Given the description of an element on the screen output the (x, y) to click on. 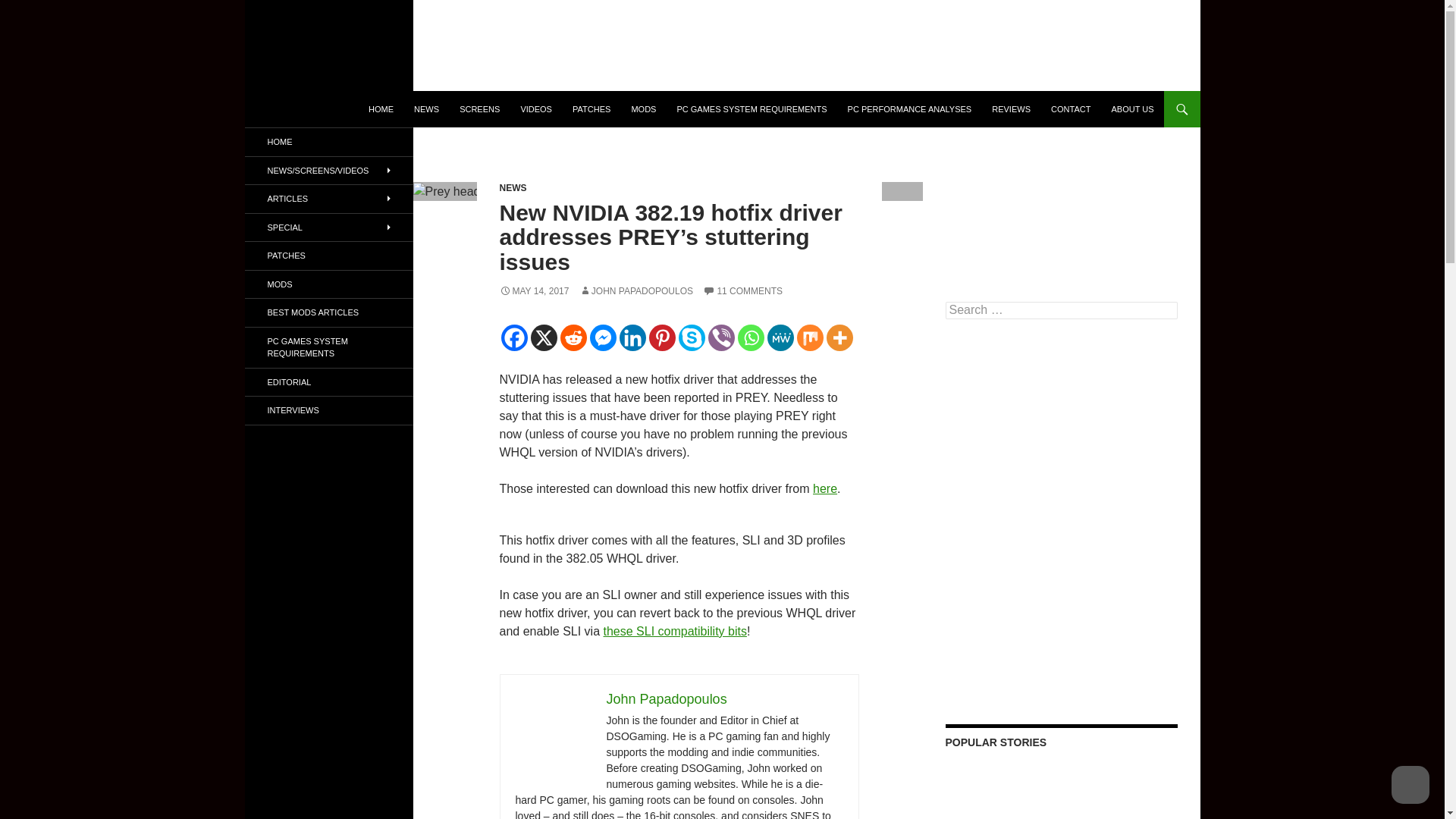
PC PERFORMANCE ANALYSES (909, 108)
Reddit (572, 337)
MAY 14, 2017 (534, 290)
ABOUT US (1131, 108)
HOME (381, 108)
NEWS (512, 187)
11 COMMENTS (743, 290)
MeWe (780, 337)
X (544, 337)
